Given the description of an element on the screen output the (x, y) to click on. 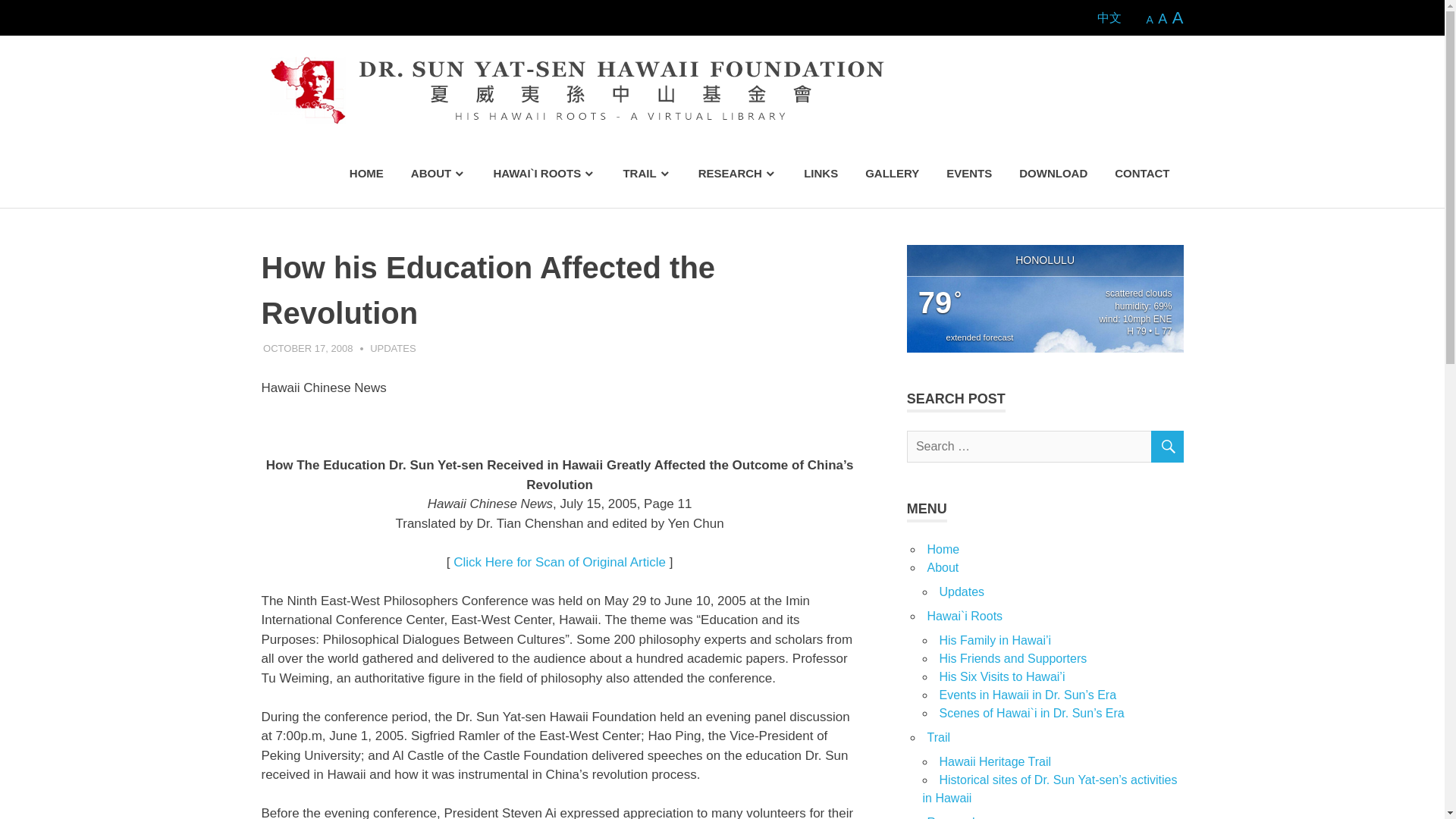
Home (942, 549)
EVENTS (969, 173)
Search for: (1045, 446)
RESEARCH (737, 173)
Click Here for Scan of Original Article (558, 562)
1:19 pm (307, 348)
DOWNLOAD (1053, 173)
ADMIN (383, 348)
OCTOBER 17, 2008 (307, 348)
UPDATES (391, 348)
